Given the description of an element on the screen output the (x, y) to click on. 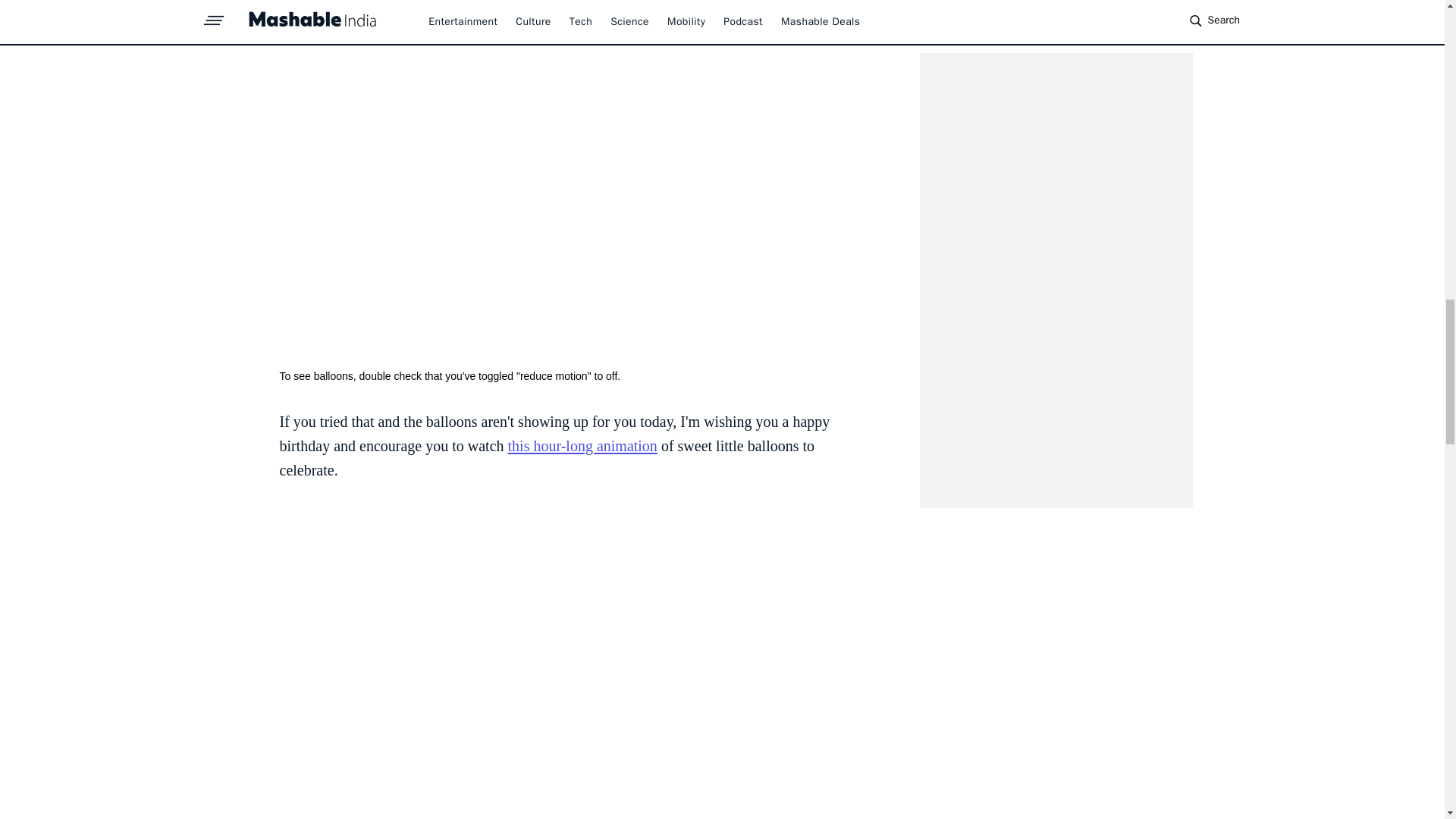
this hour-long animation (583, 445)
